Given the description of an element on the screen output the (x, y) to click on. 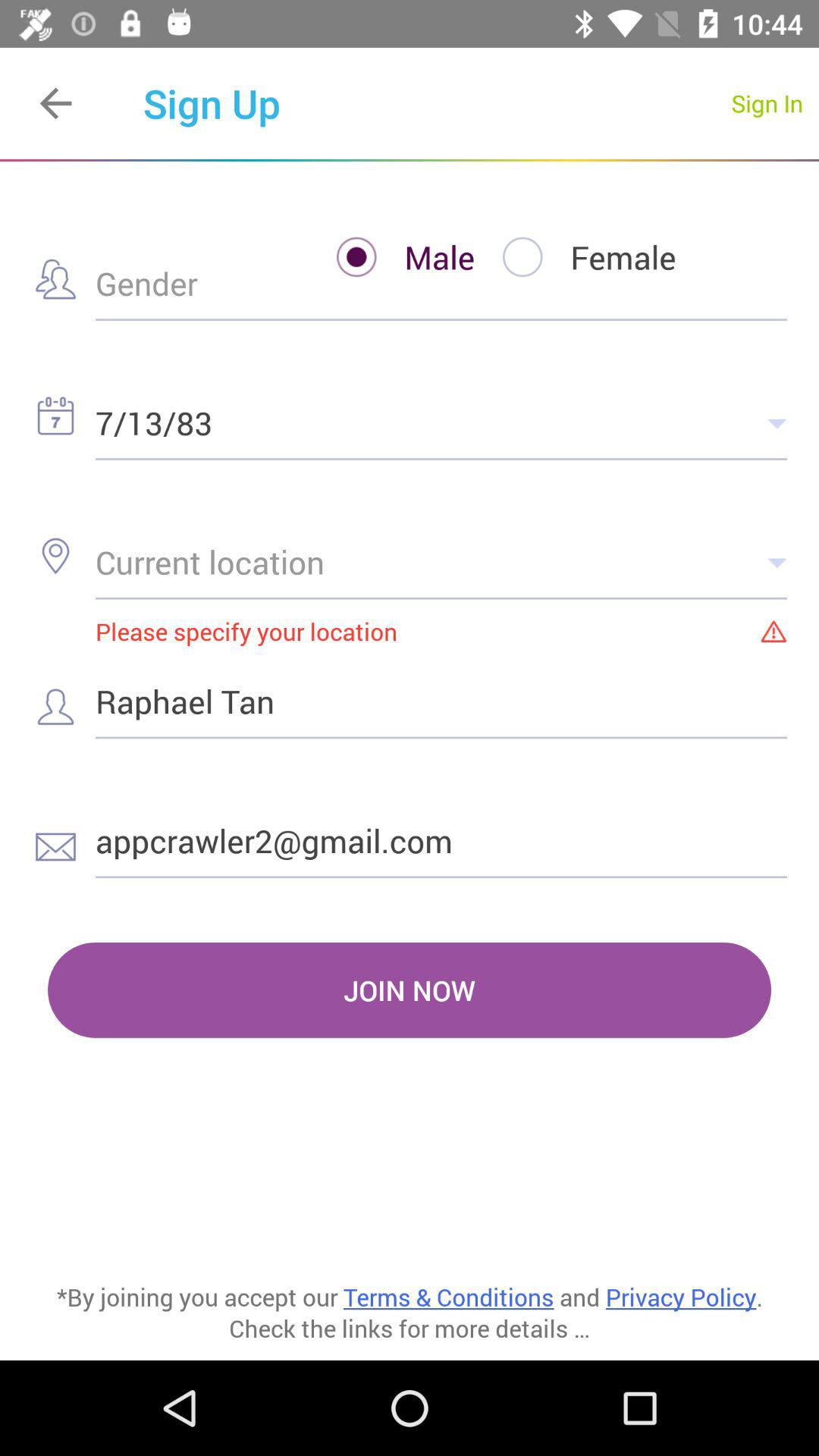
turn off item above by joining you item (409, 989)
